Given the description of an element on the screen output the (x, y) to click on. 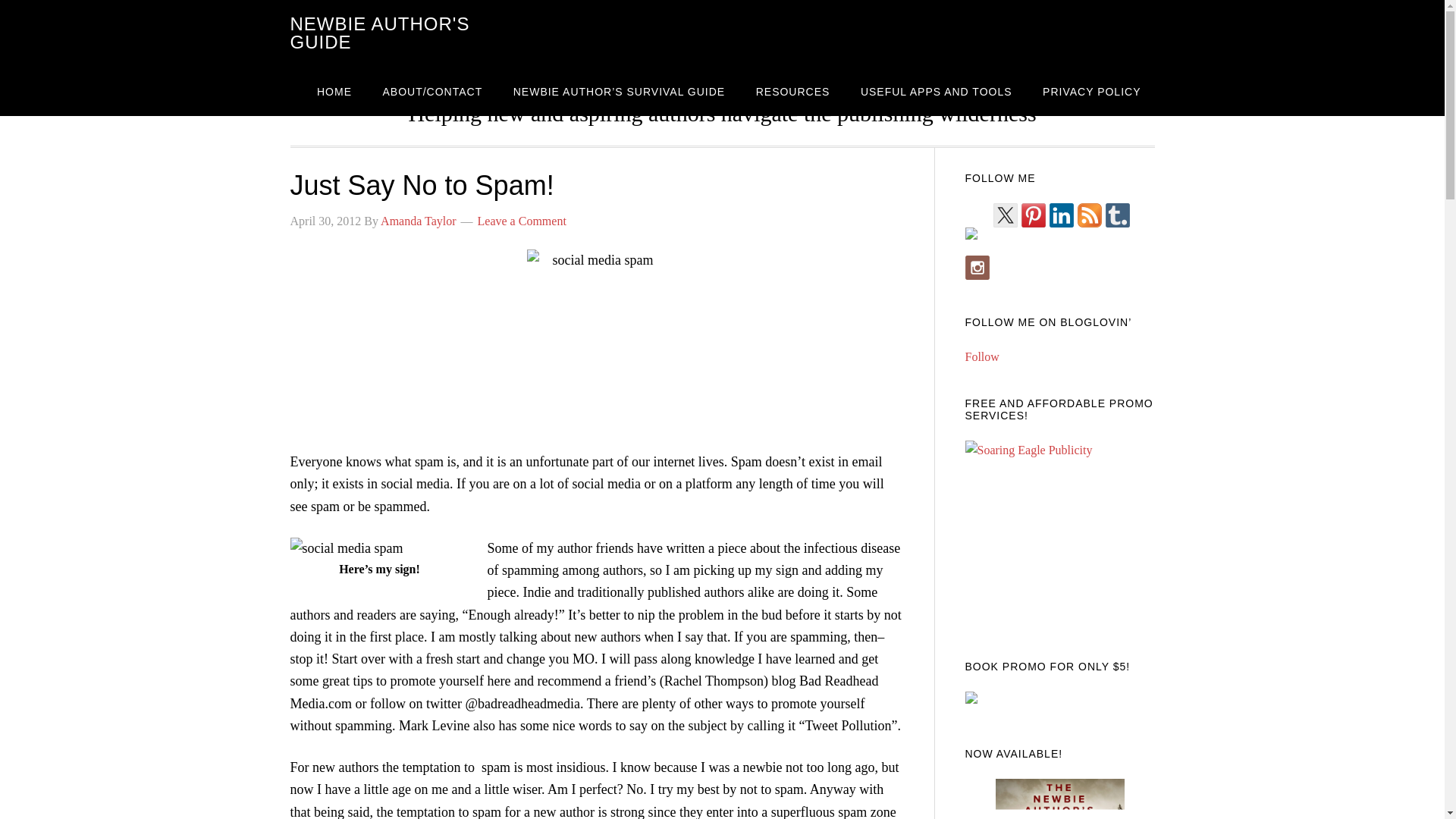
Find us on Linkedin (1061, 215)
NEWBIE AUTHOR'S GUIDE (378, 32)
PRIVACY POLICY (1091, 91)
Our board on Pinterest (1032, 215)
Leave a Comment (521, 220)
Amanda Taylor (417, 220)
Follow us on Twitter (1004, 215)
HOME (333, 91)
USEFUL APPS AND TOOLS (936, 91)
Follow us on Facebook (975, 239)
Follow us on Facebook (969, 233)
RESOURCES (793, 91)
Follow (980, 356)
NOW AVAILABLE! (1058, 753)
